Given the description of an element on the screen output the (x, y) to click on. 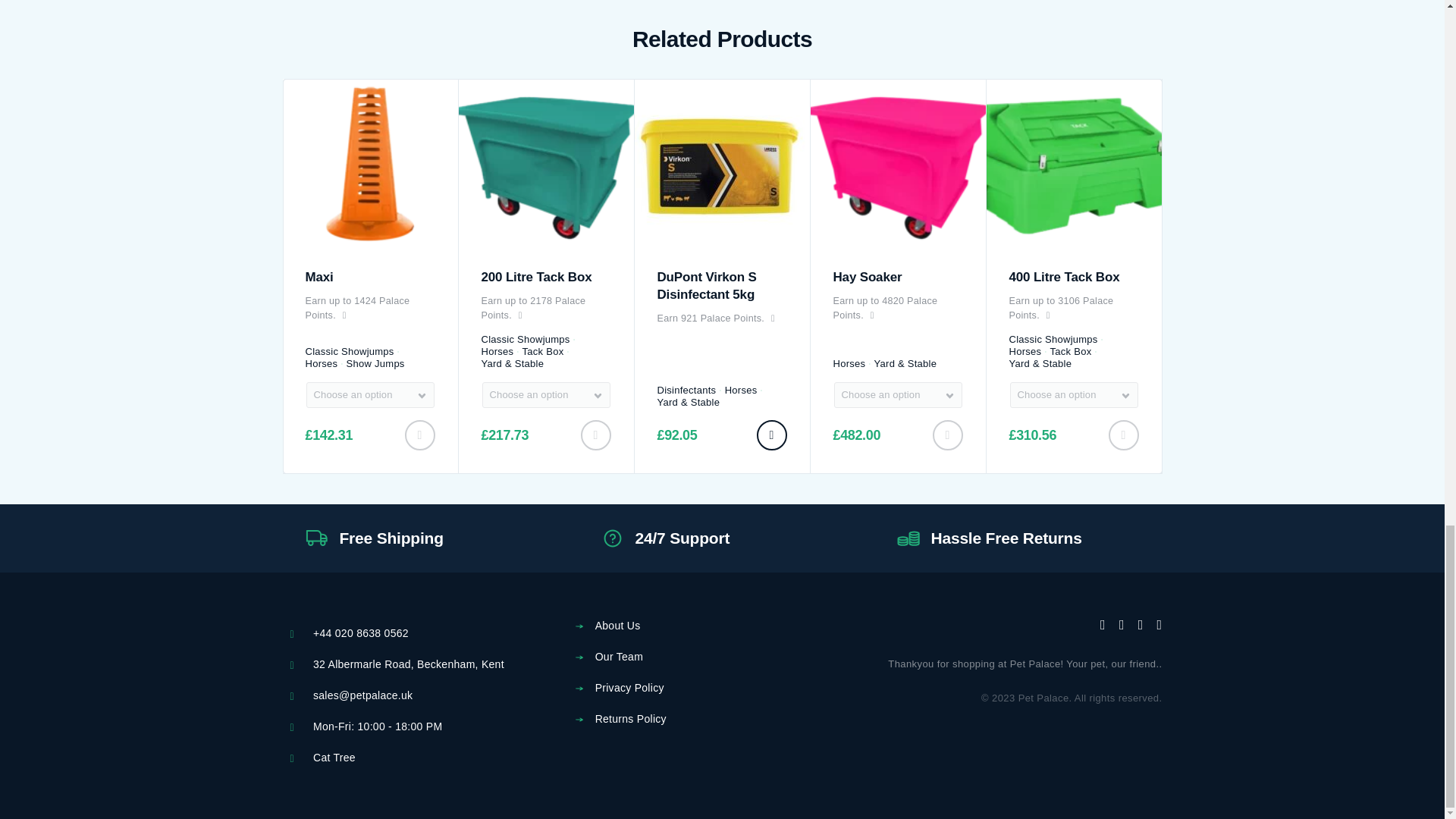
View all posts in Show Jumps (375, 363)
200 Litre Tack Box (545, 165)
Maxi (369, 165)
View all posts in Classic Showjumps (348, 351)
View all posts in Horses (320, 363)
